Given the description of an element on the screen output the (x, y) to click on. 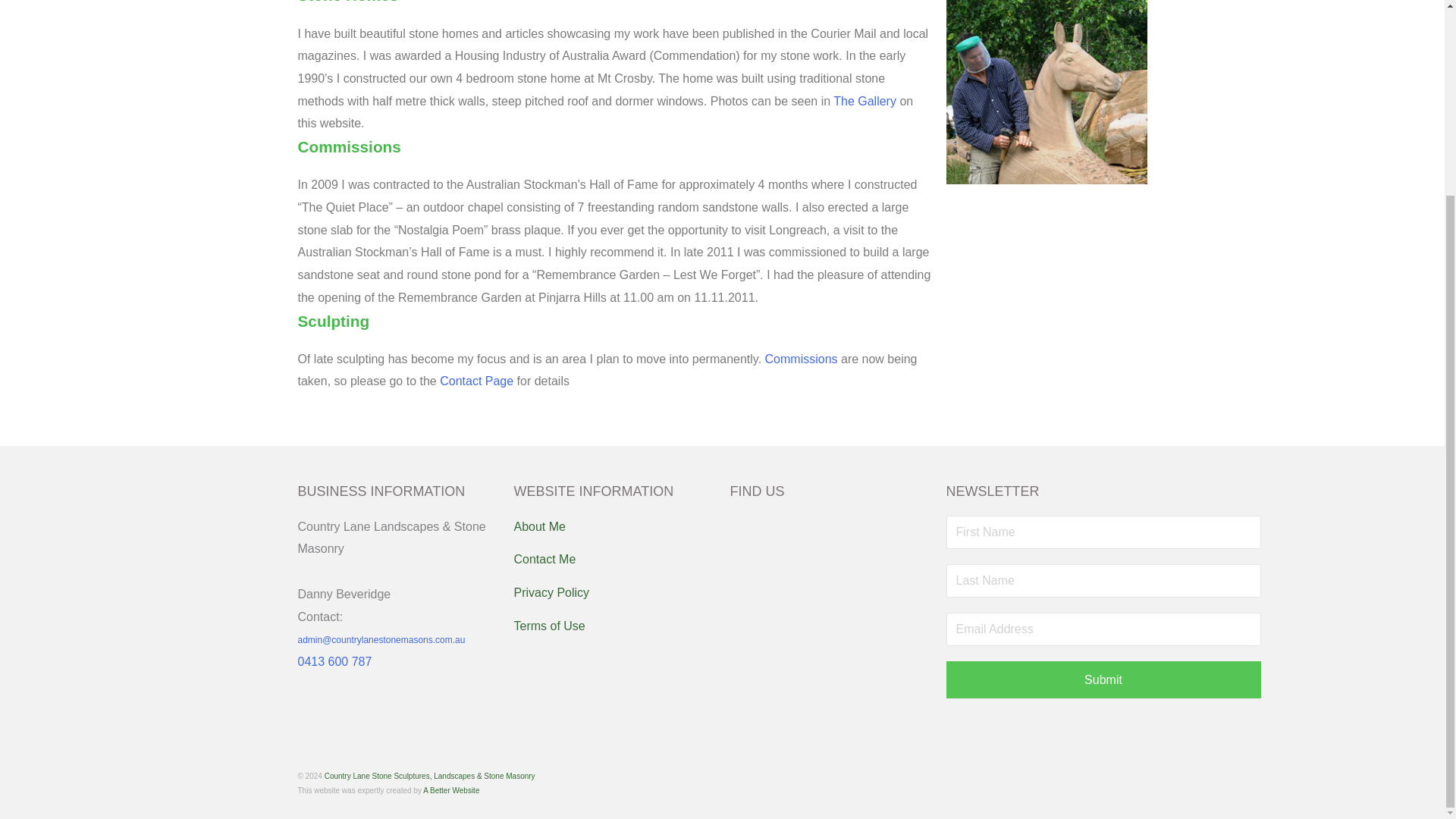
Privacy Policy (613, 592)
Submit (1103, 679)
The Gallery (864, 101)
Submit (1103, 679)
Contact Page (476, 380)
About Me (613, 526)
0413 600 787 (334, 661)
Terms of Use (613, 626)
Contact Me (613, 558)
A Better Website (451, 790)
Commissions (801, 358)
